Given the description of an element on the screen output the (x, y) to click on. 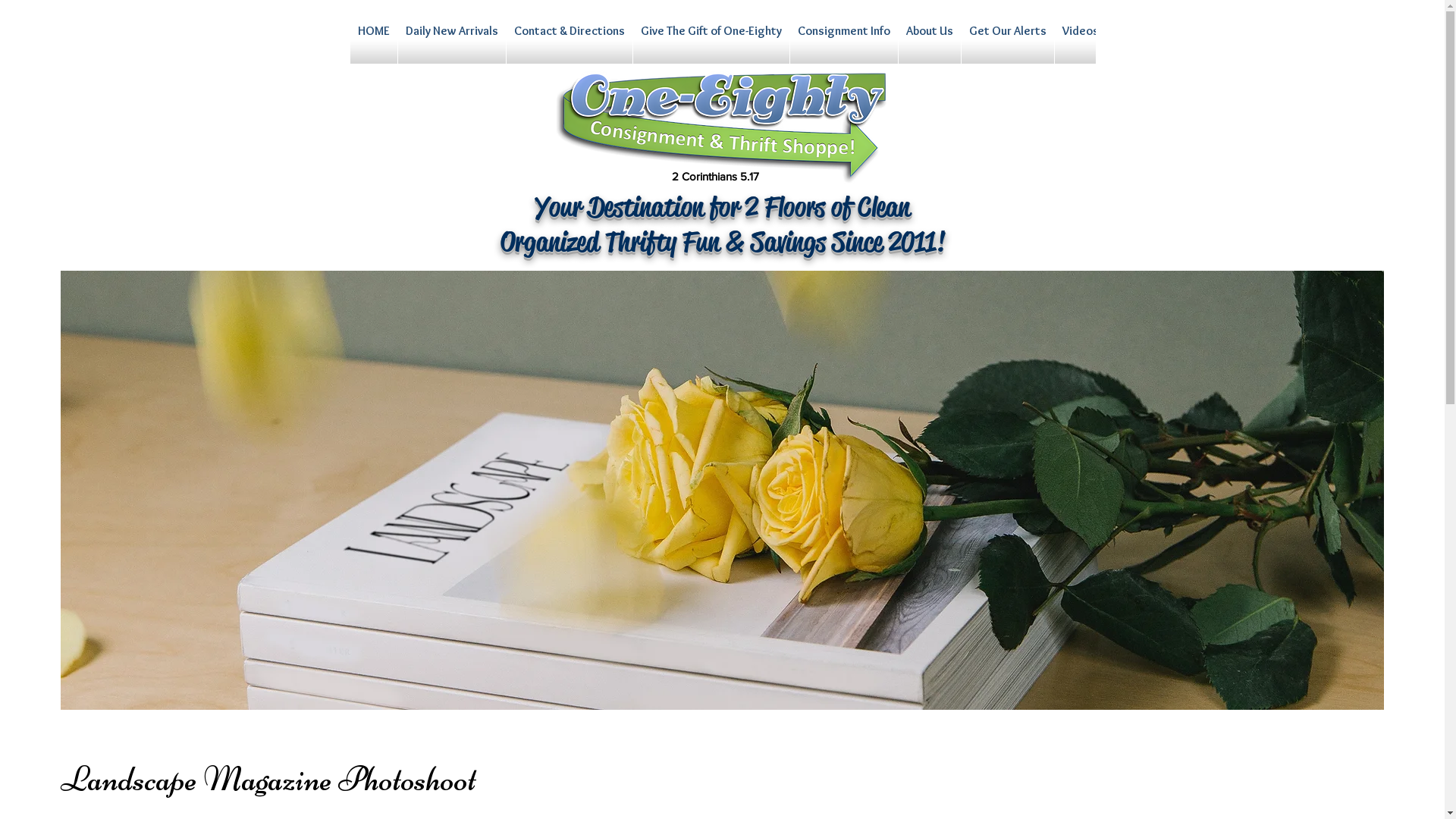
Get Our Alerts Element type: text (1007, 42)
Videos Element type: text (1079, 42)
Contact & Directions Element type: text (569, 42)
Consignment Info Element type: text (843, 42)
Store logo Hi Res.png Element type: hover (721, 124)
Daily New Arrivals Element type: text (451, 42)
HOME Element type: text (373, 42)
Give The Gift of One-Eighty Element type: text (710, 42)
About Us Element type: text (928, 42)
